Given the description of an element on the screen output the (x, y) to click on. 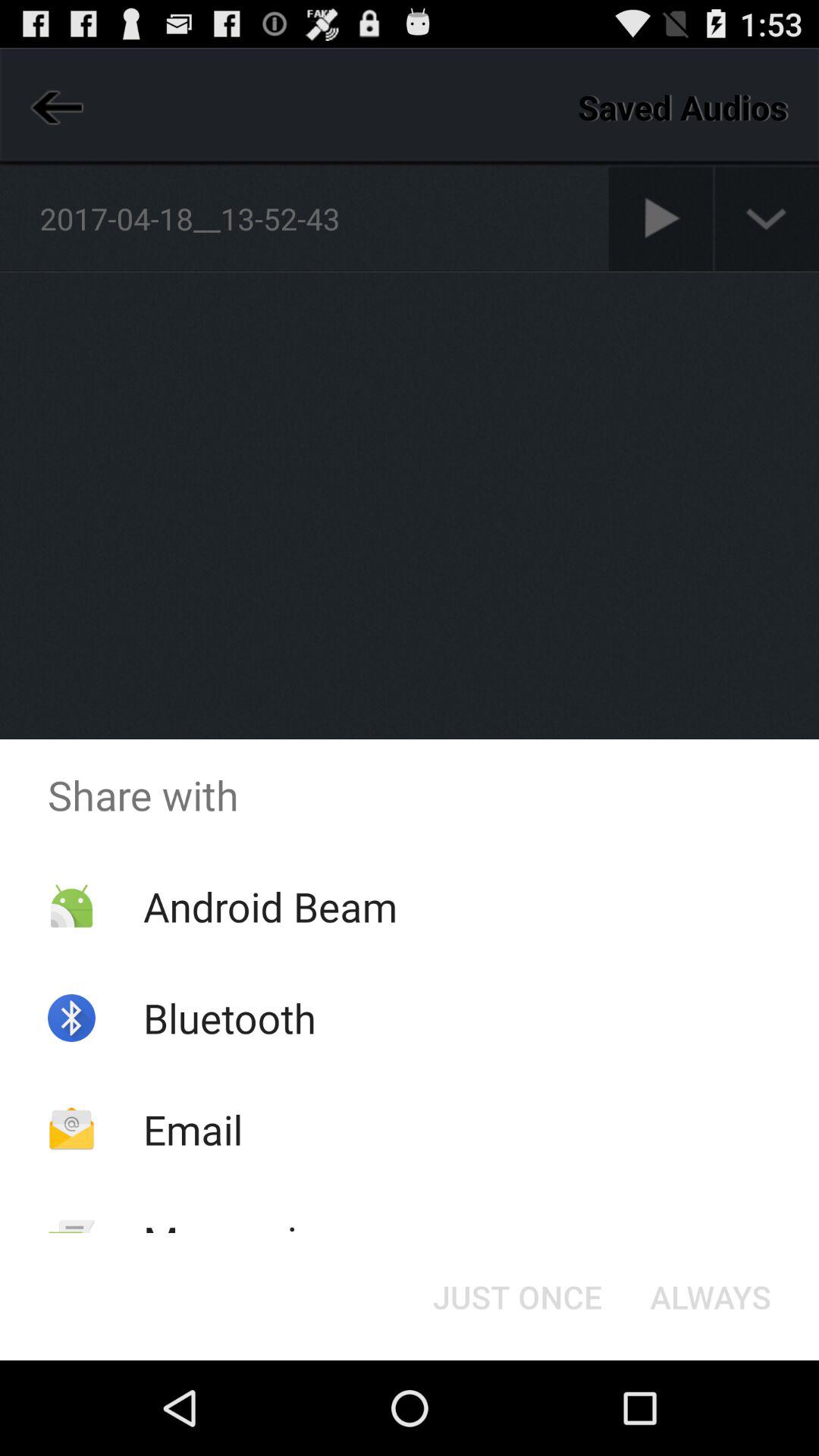
choose the icon at the bottom right corner (710, 1296)
